Given the description of an element on the screen output the (x, y) to click on. 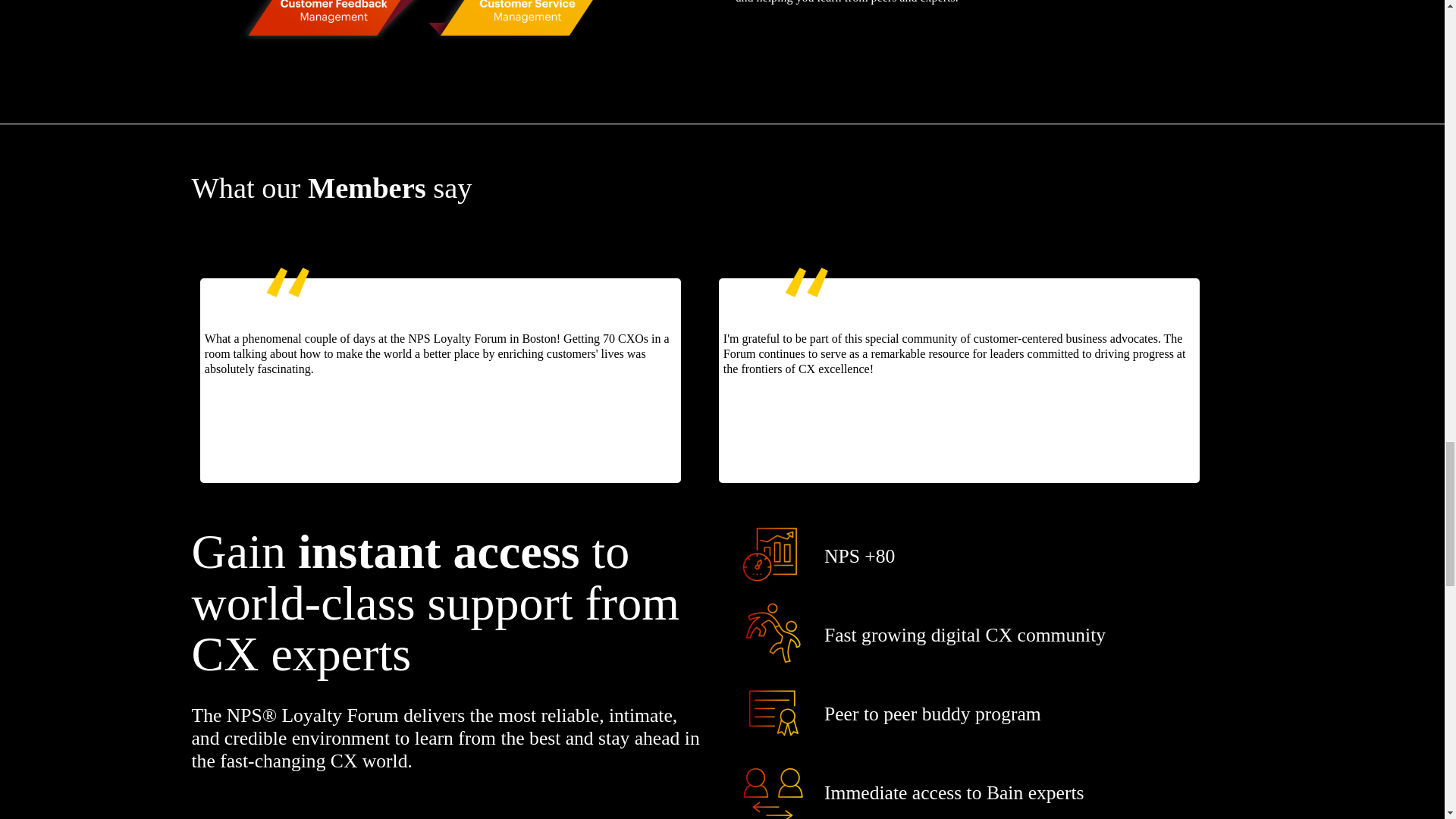
People (772, 786)
Index (772, 554)
